Given the description of an element on the screen output the (x, y) to click on. 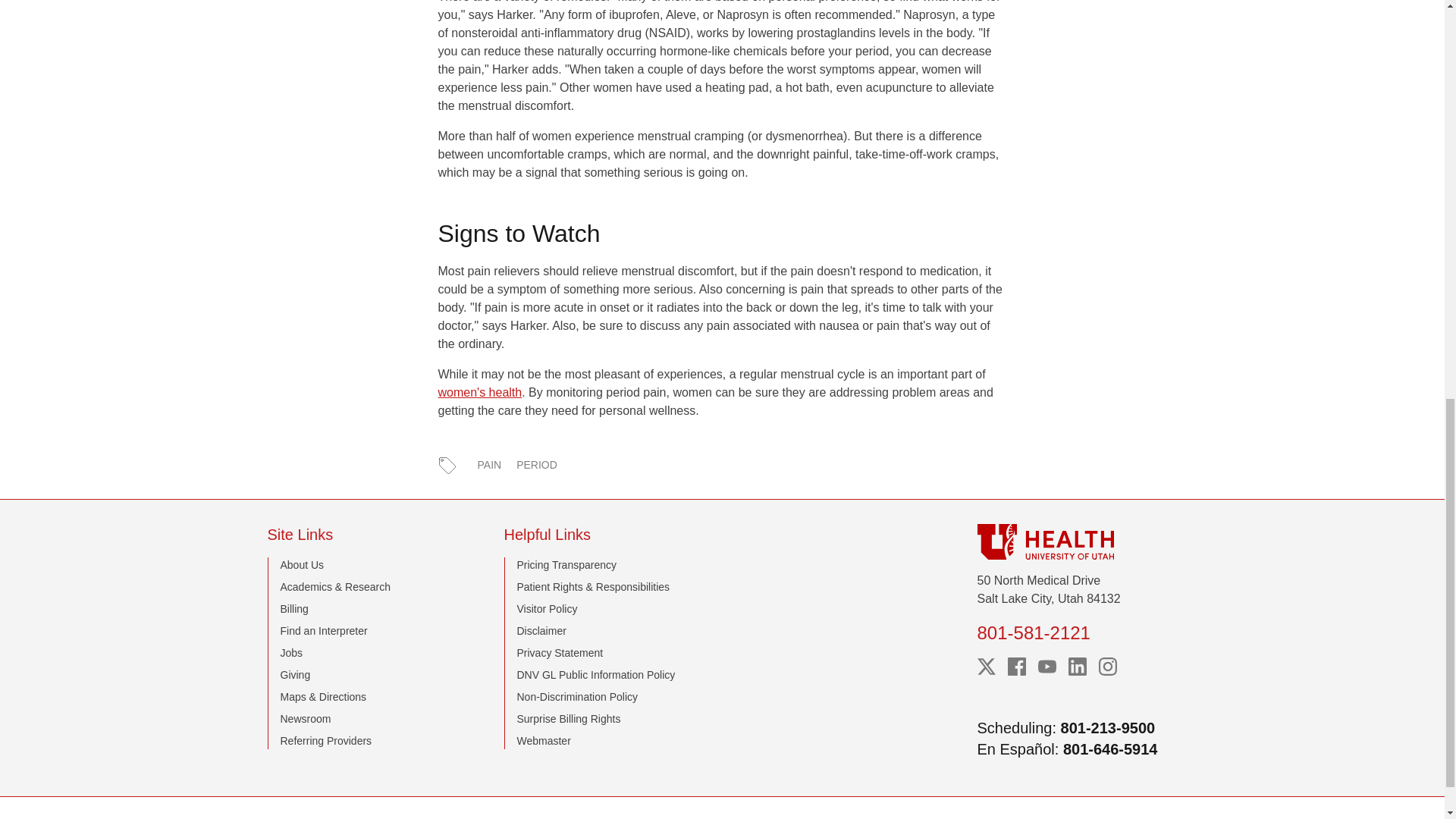
Women's Health Services (480, 391)
PAIN (489, 465)
women's health (480, 391)
University of Utah Healthcare (1076, 541)
